Given the description of an element on the screen output the (x, y) to click on. 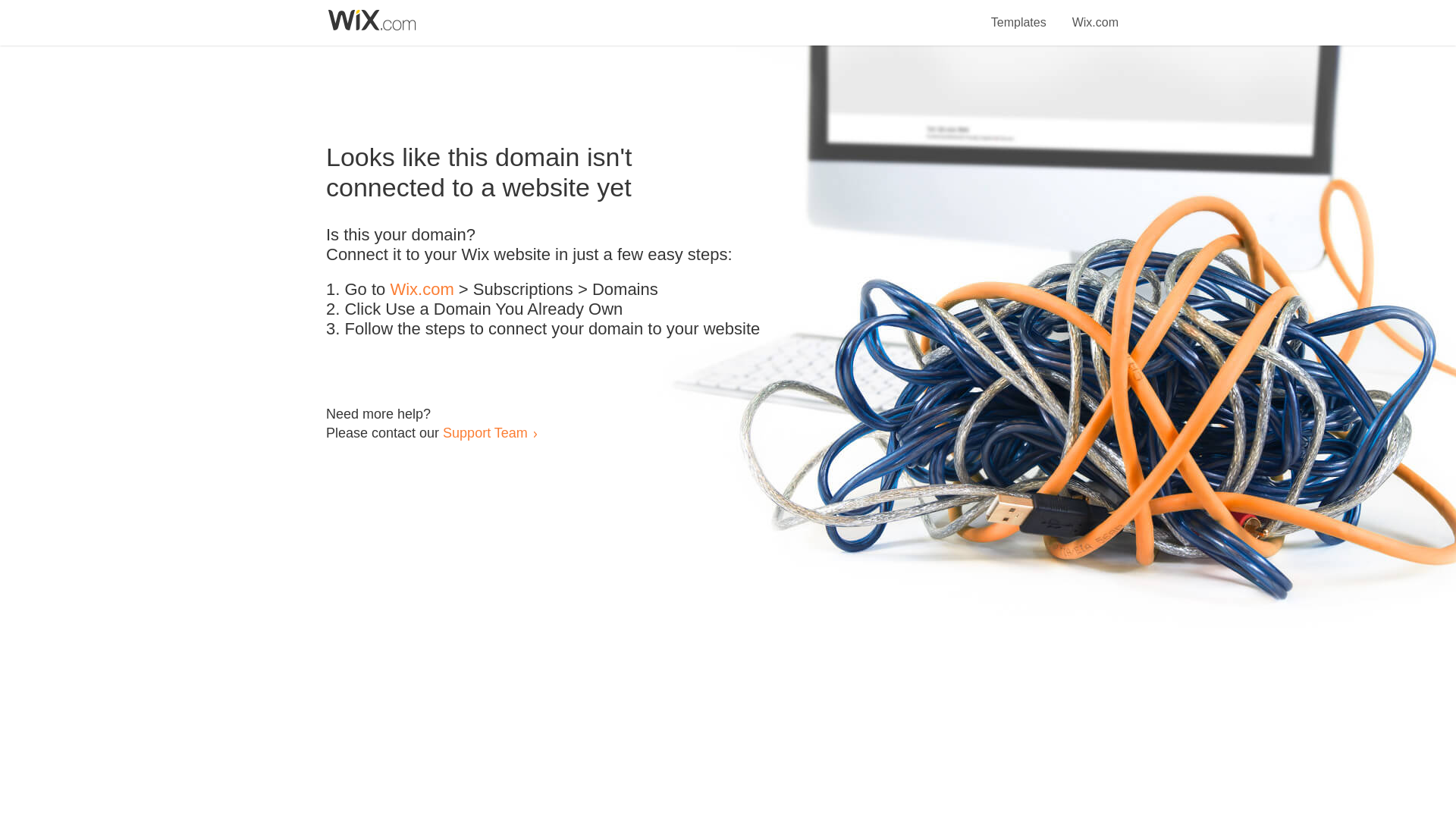
Wix.com (421, 289)
Wix.com (1095, 14)
Templates (1018, 14)
Support Team (484, 432)
